Given the description of an element on the screen output the (x, y) to click on. 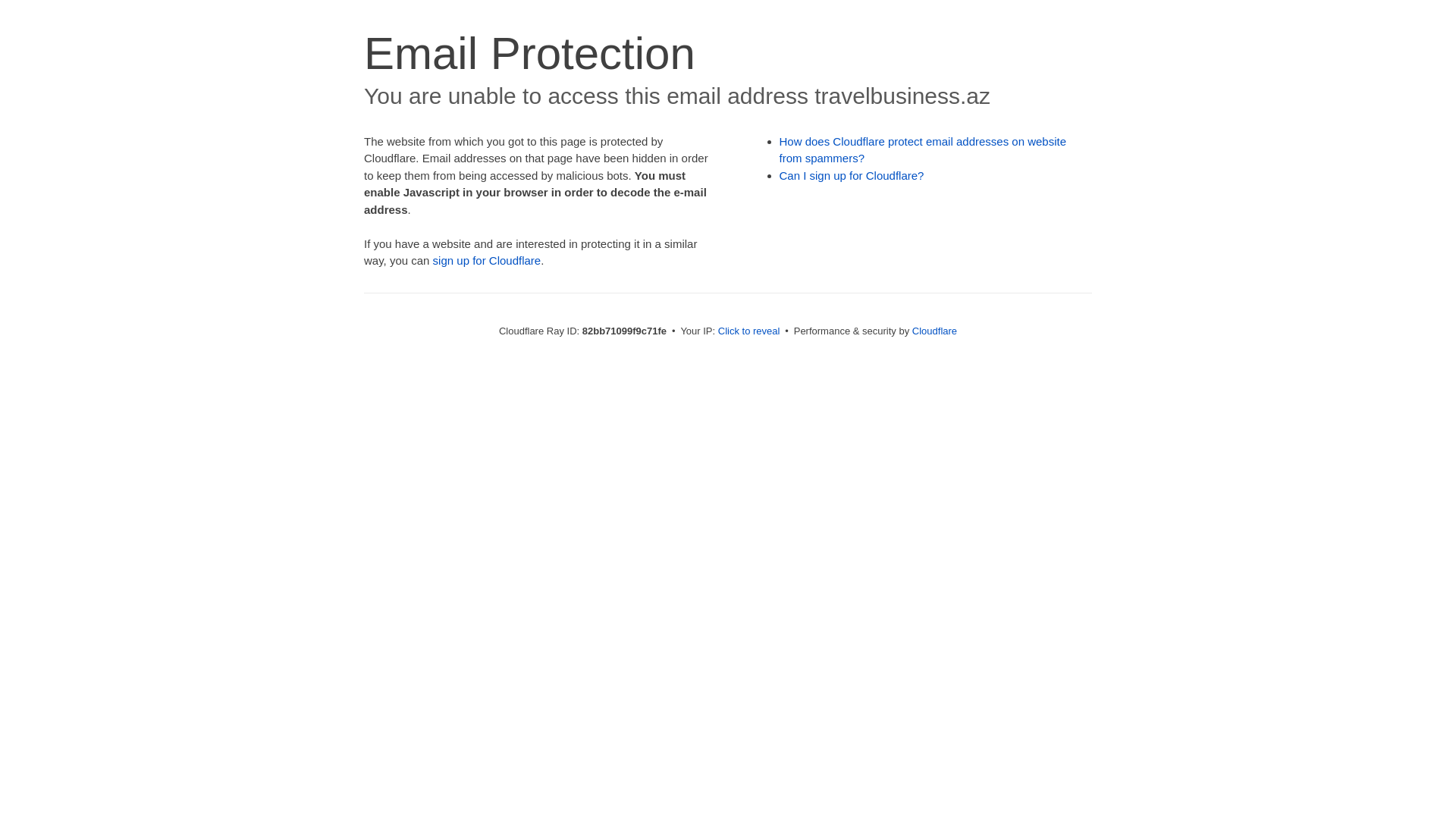
Can I sign up for Cloudflare? Element type: text (851, 175)
Click to reveal Element type: text (749, 330)
Cloudflare Element type: text (934, 330)
sign up for Cloudflare Element type: text (487, 260)
